Given the description of an element on the screen output the (x, y) to click on. 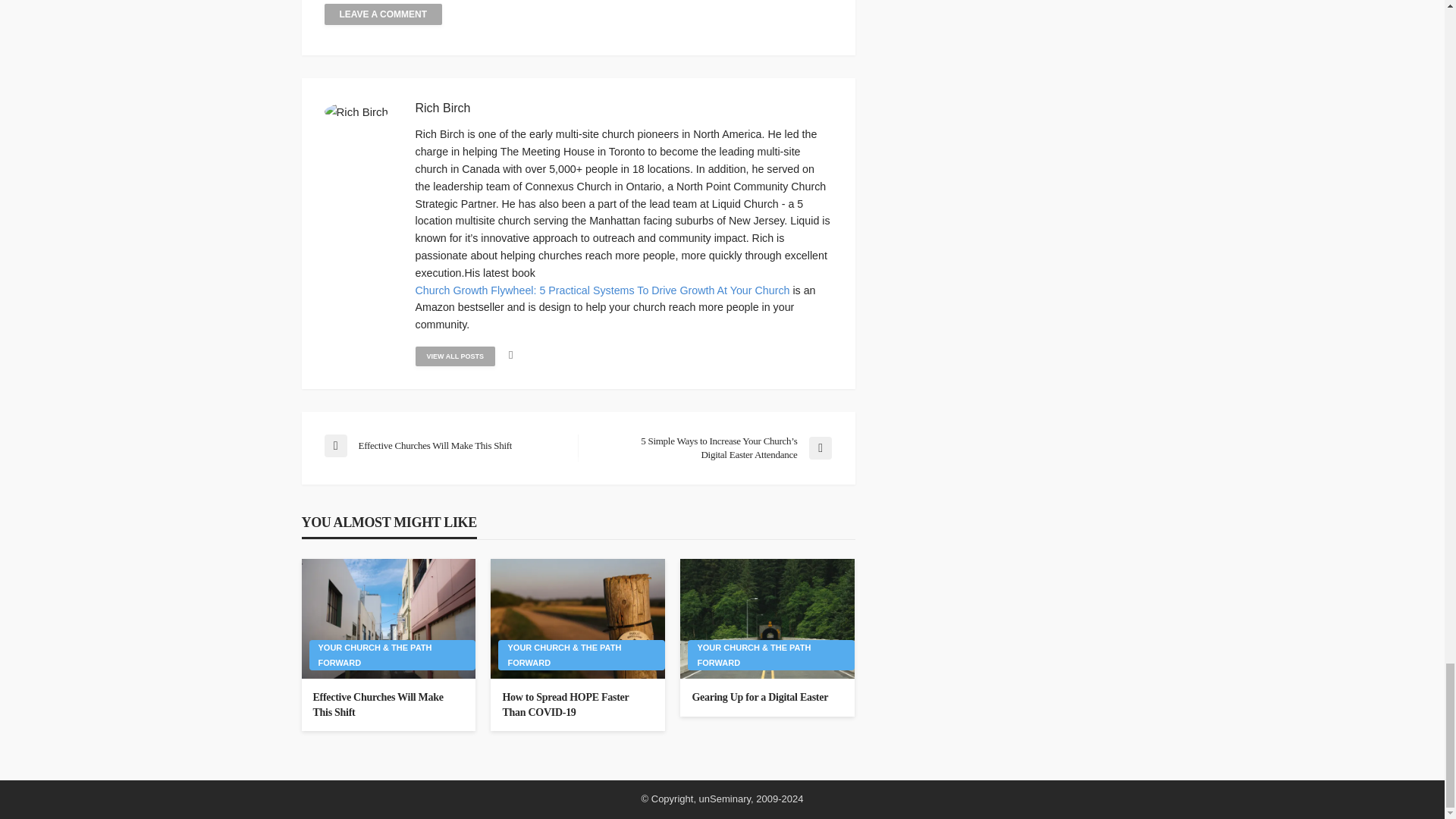
Leave a comment (383, 14)
